Given the description of an element on the screen output the (x, y) to click on. 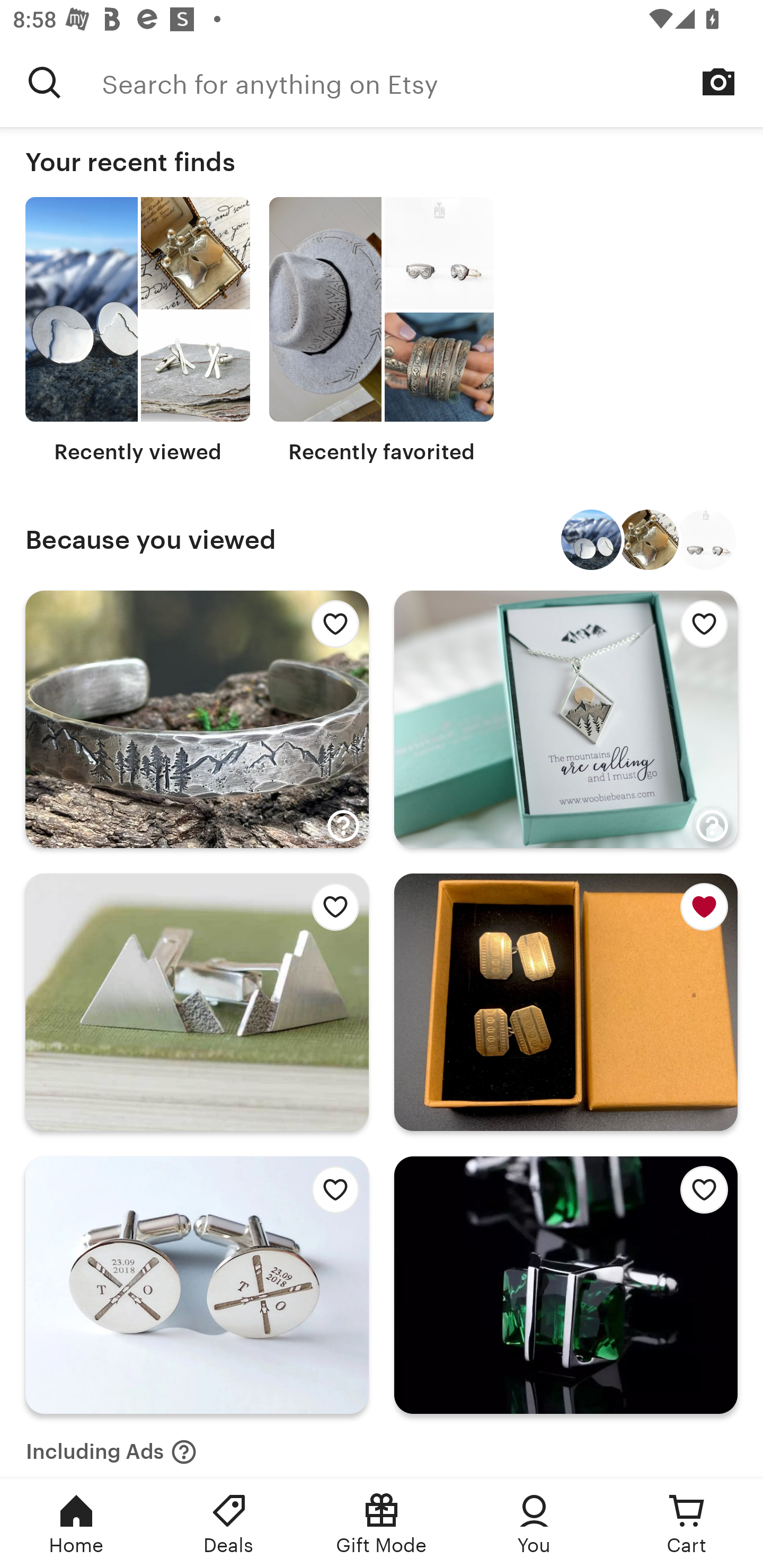
Search for anything on Etsy (44, 82)
Search by image (718, 81)
Search for anything on Etsy (432, 82)
Recently viewed (137, 330)
Recently favorited (381, 330)
Including Ads (111, 1446)
Deals (228, 1523)
Gift Mode (381, 1523)
You (533, 1523)
Cart (686, 1523)
